Given the description of an element on the screen output the (x, y) to click on. 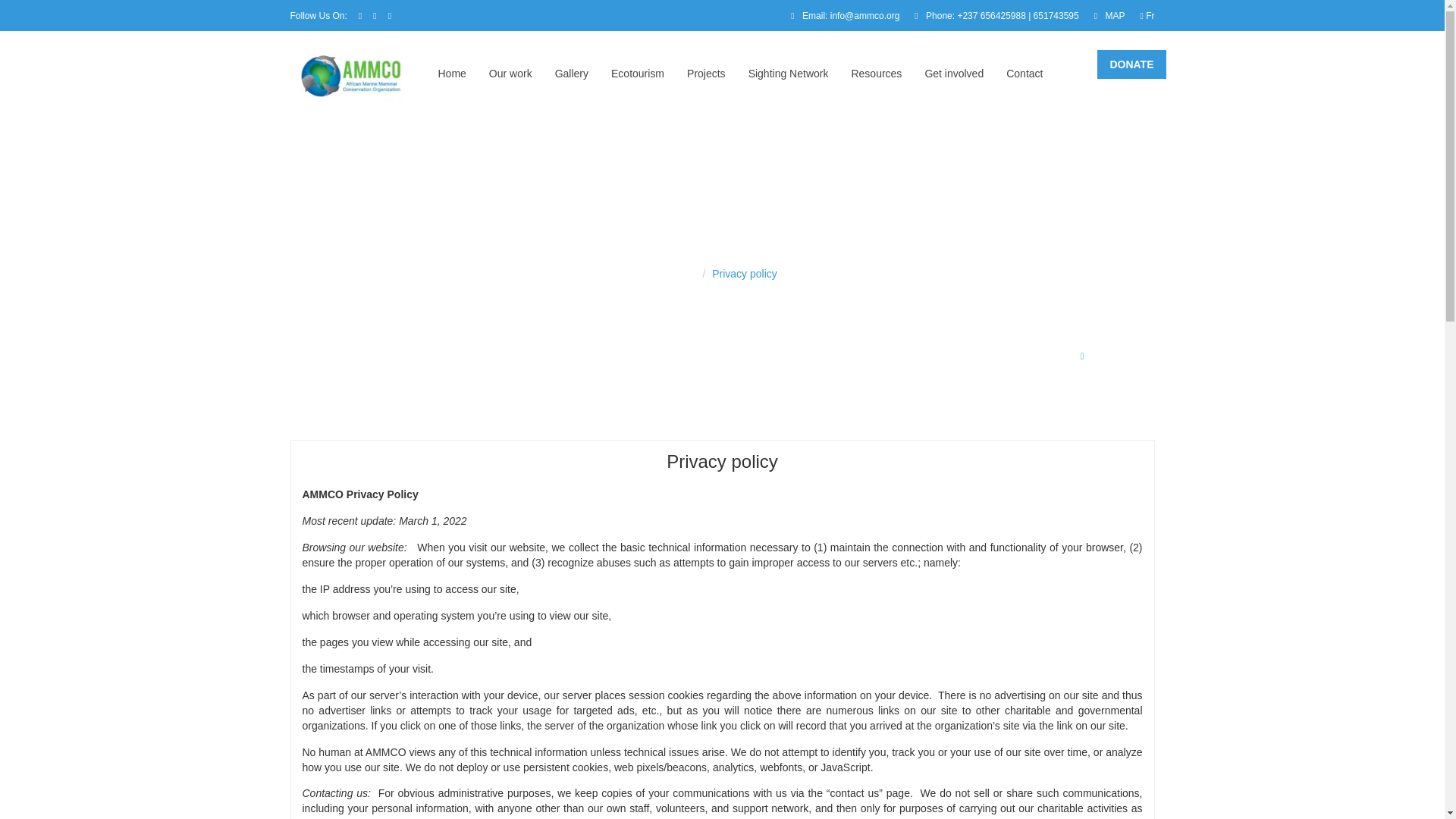
Resources (875, 73)
Our work (510, 73)
MAP (1109, 15)
DONATE (1131, 63)
Home (451, 73)
Sighting Network (788, 73)
Projects (706, 73)
Ecotourism (637, 73)
Follow Us On: (317, 15)
Contact (1024, 73)
